Given the description of an element on the screen output the (x, y) to click on. 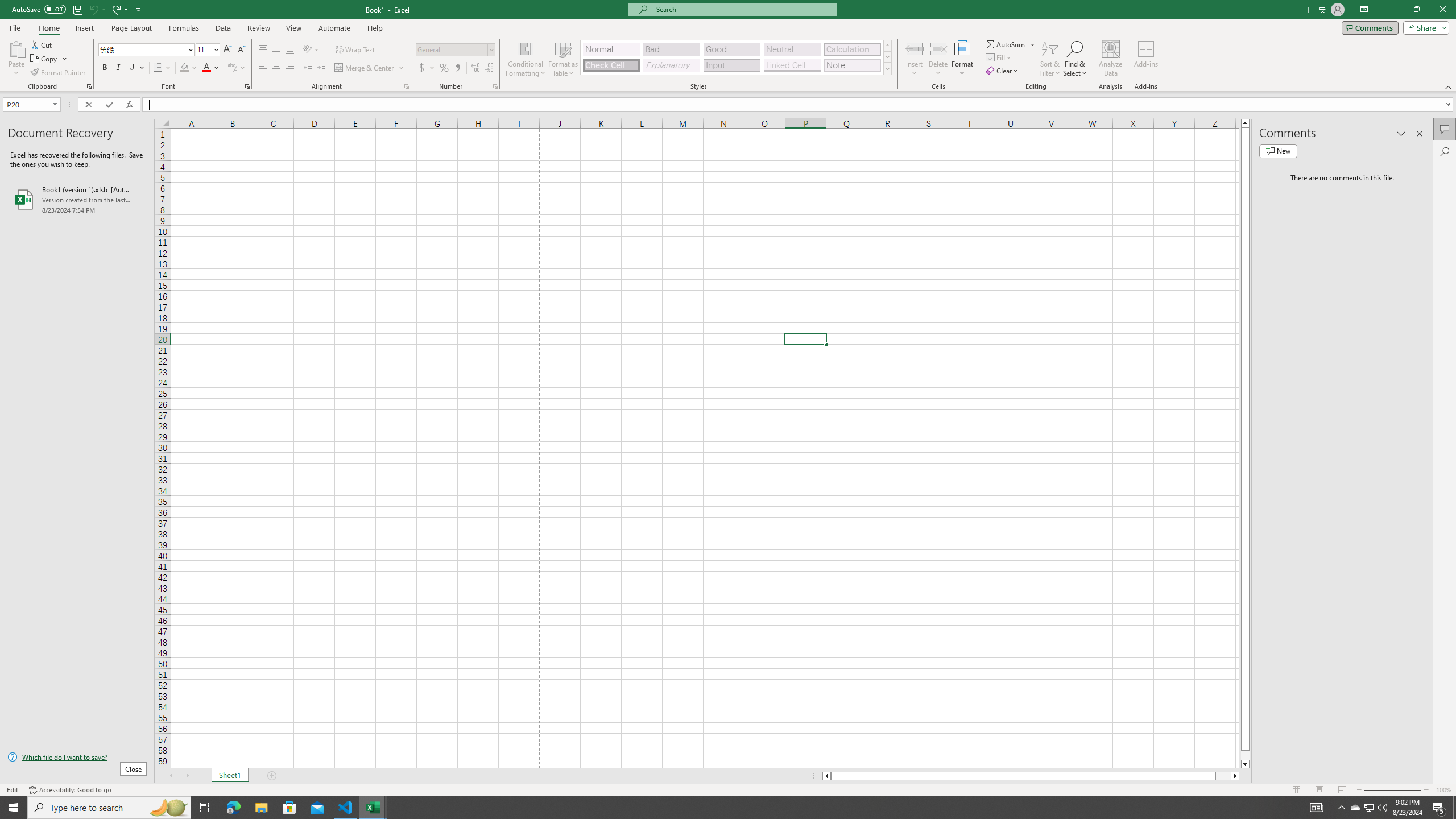
Sum (1006, 44)
Insert Cells (914, 48)
Bottom Border (157, 67)
Analyze Data (1110, 58)
